Given the description of an element on the screen output the (x, y) to click on. 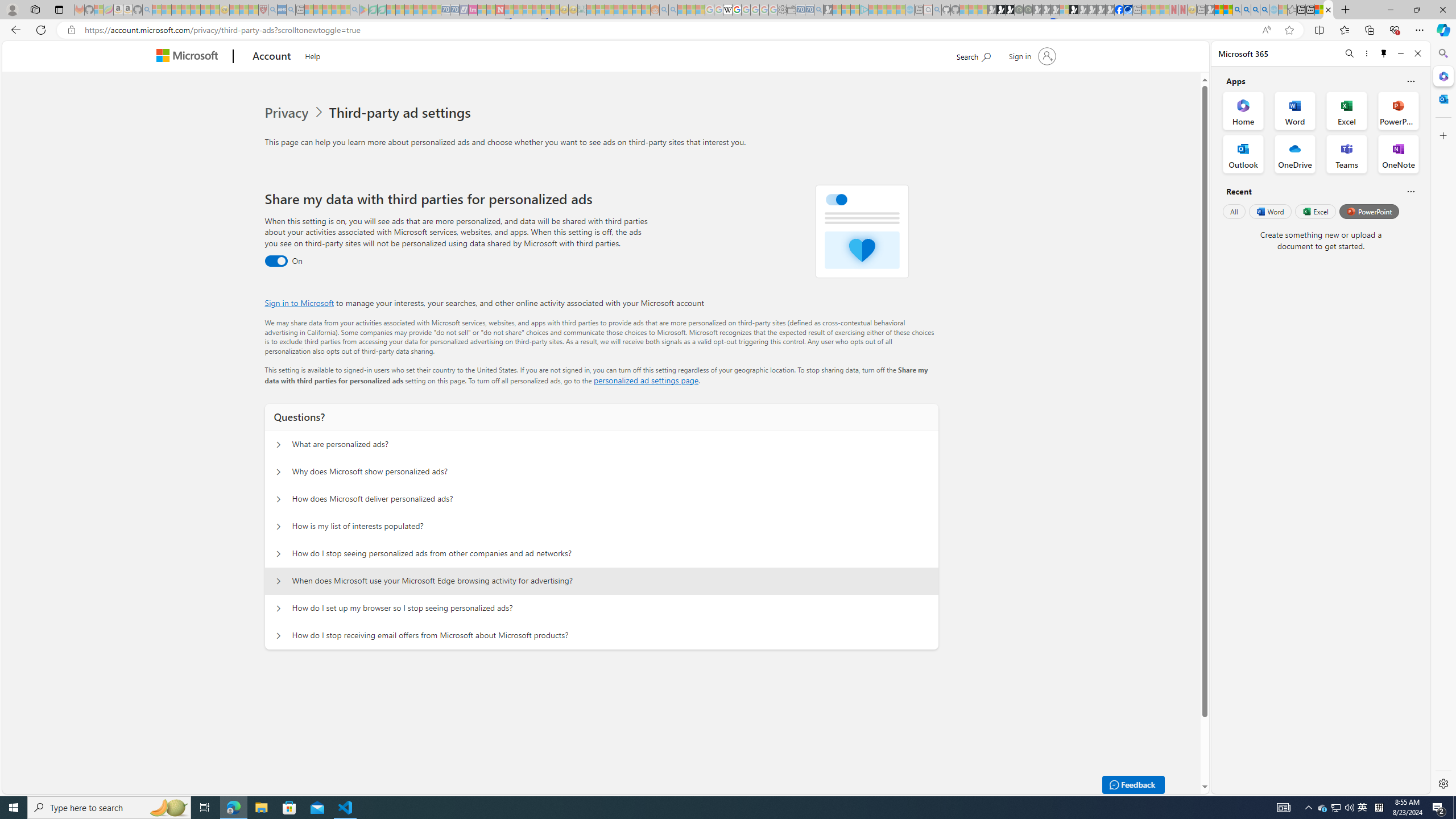
Questions? How does Microsoft deliver personalized ads? (278, 499)
Excel (1315, 210)
